Given the description of an element on the screen output the (x, y) to click on. 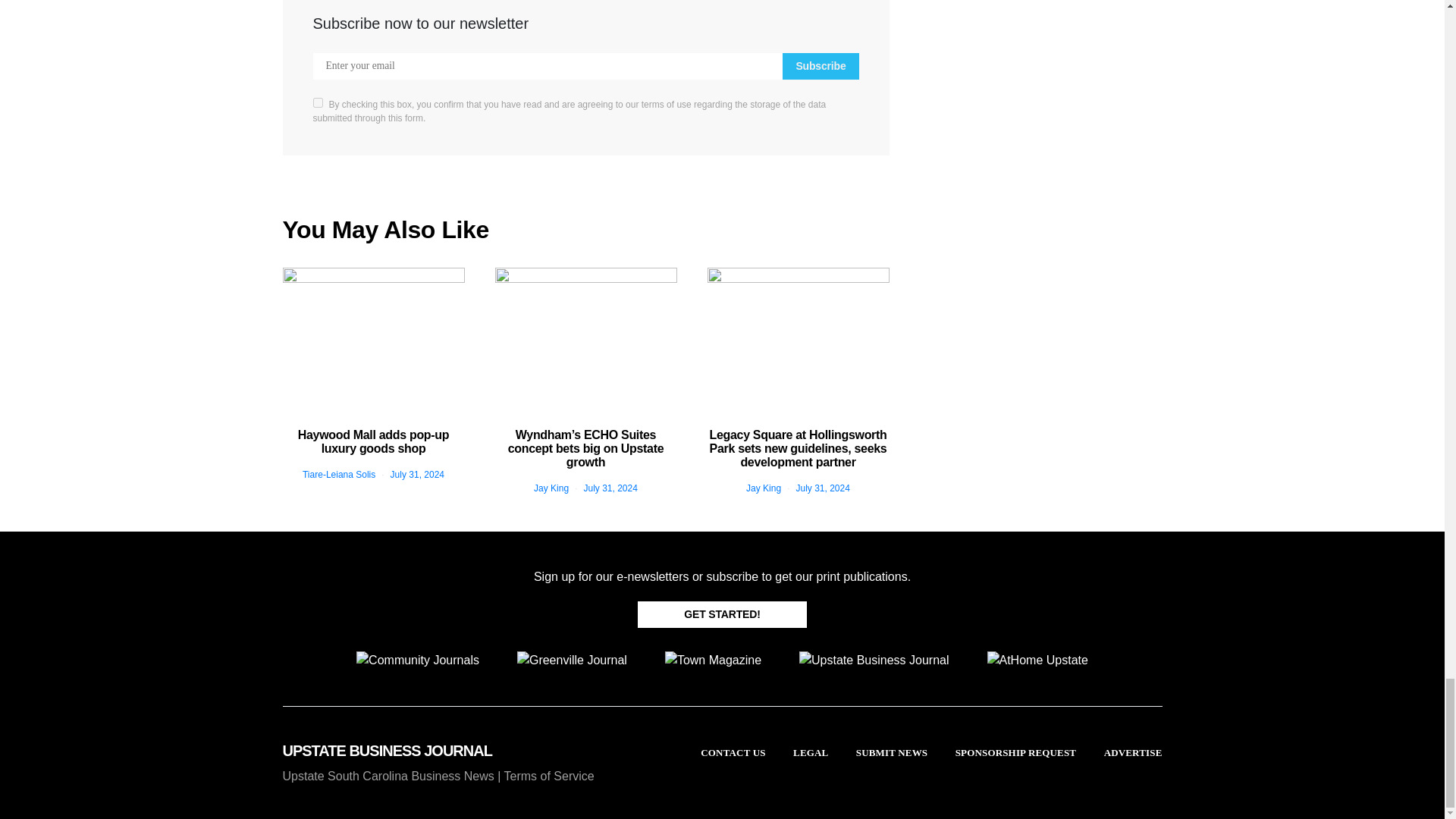
View all posts by Tiare-Leiana Solis (338, 474)
View all posts by Jay King (762, 488)
View all posts by Jay King (551, 488)
on (317, 102)
